Given the description of an element on the screen output the (x, y) to click on. 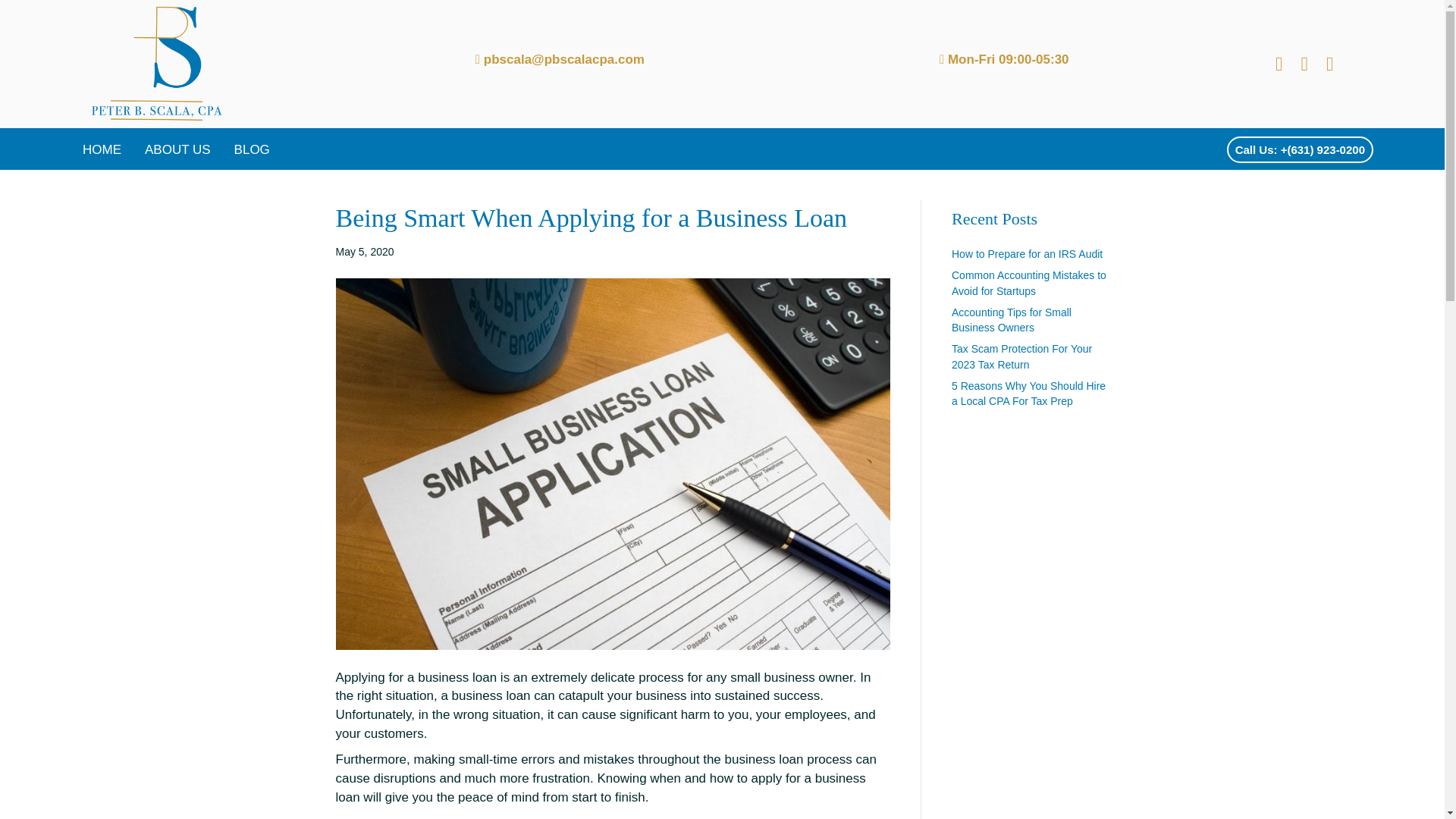
Tax Scam Protection For Your 2023 Tax Return (1022, 356)
Accounting Tips for Small Business Owners (1011, 319)
Common Accounting Mistakes to Avoid for Startups (1029, 282)
logo-new (156, 64)
BLOG (251, 148)
HOME (101, 148)
5 Reasons Why You Should Hire a Local CPA For Tax Prep (1028, 393)
How to Prepare for an IRS Audit (1027, 254)
ABOUT US (177, 148)
